Given the description of an element on the screen output the (x, y) to click on. 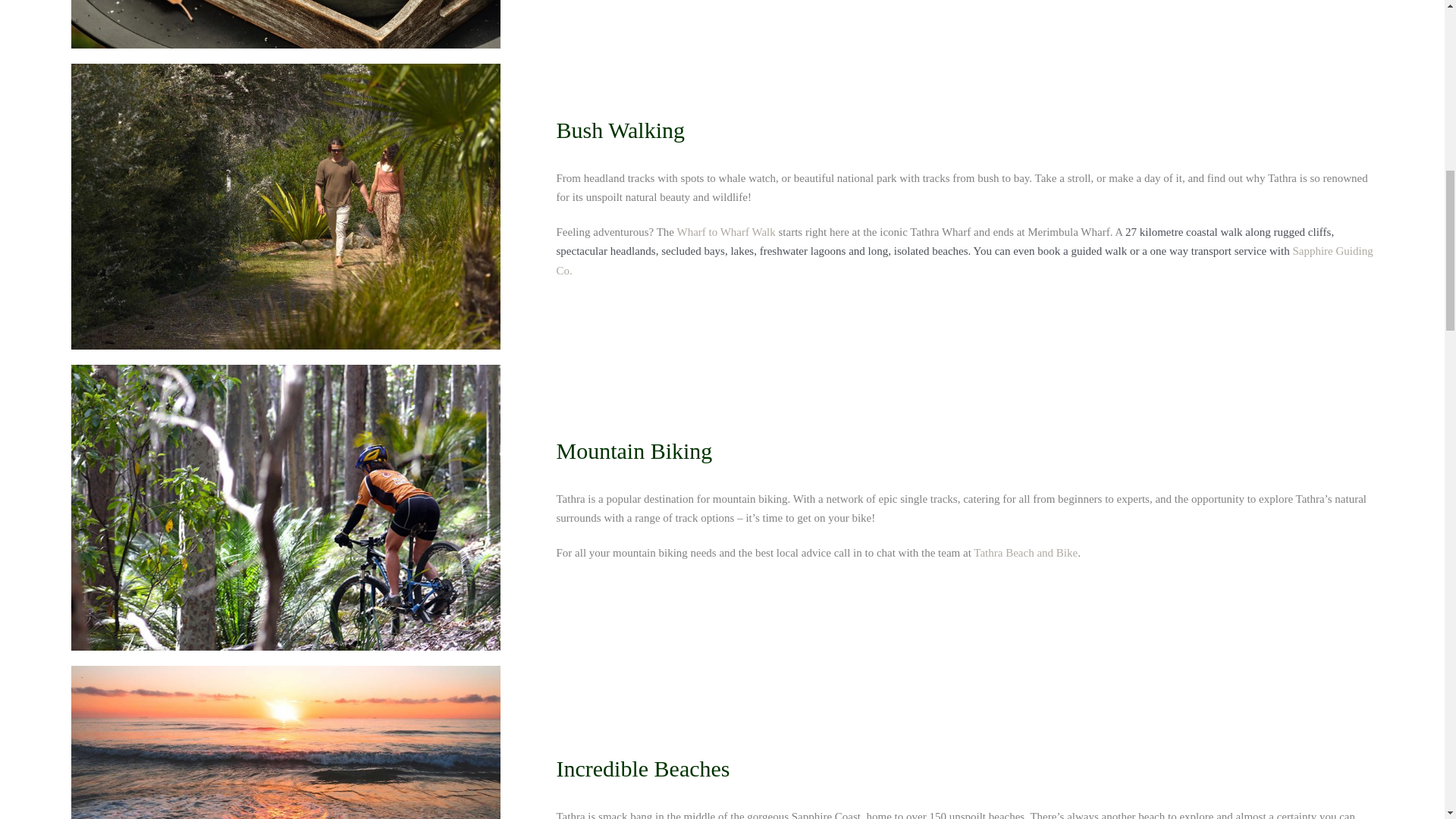
Sapphire Guiding Co. (964, 260)
Tathra Beach and Bike (1025, 552)
Wharf to Wharf Walk (727, 232)
